Given the description of an element on the screen output the (x, y) to click on. 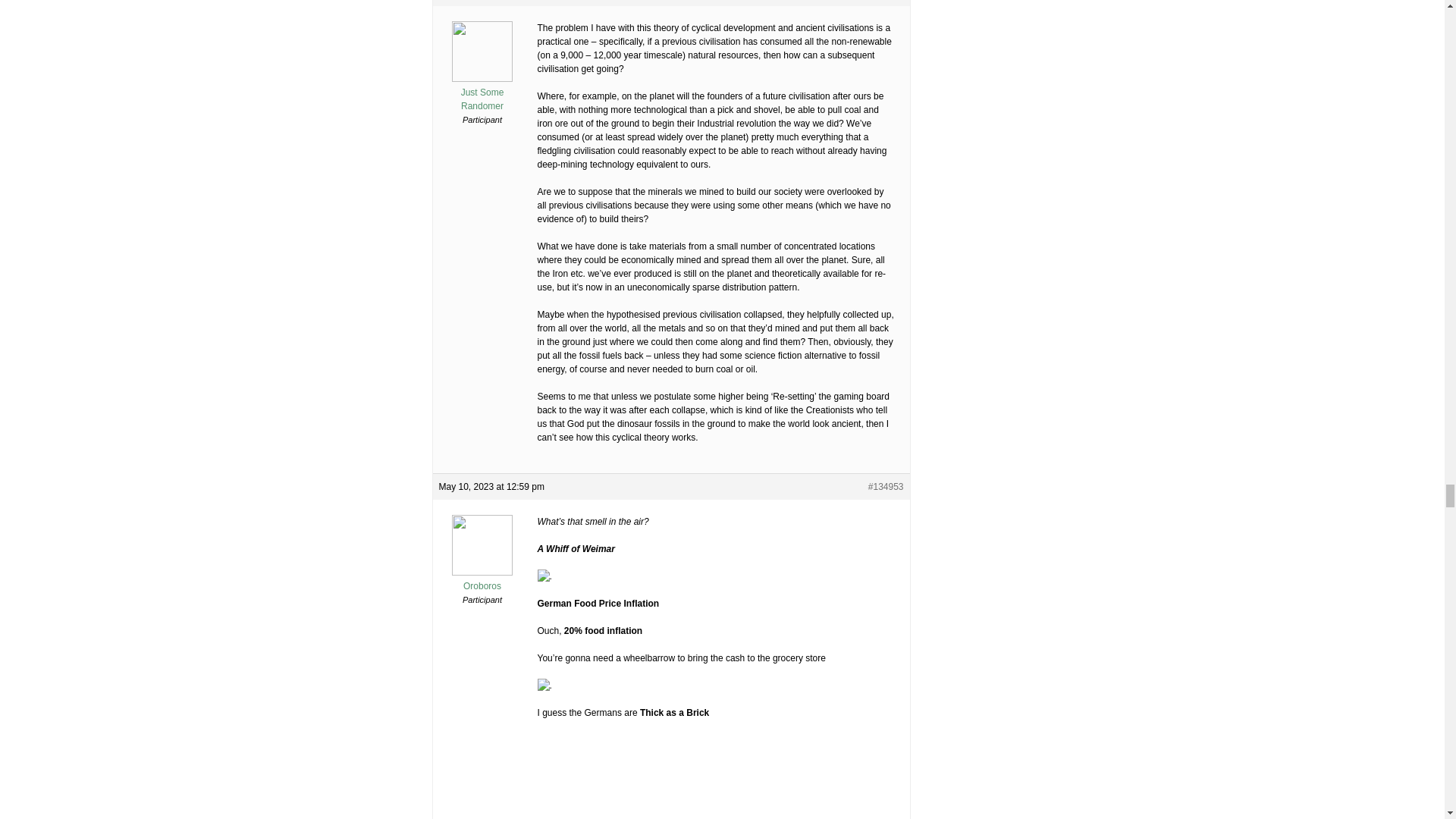
View Oroboros's profile (481, 579)
View Just Some Randomer's profile (481, 93)
Martin's flautist like Ian Anderson (800, 776)
